Given the description of an element on the screen output the (x, y) to click on. 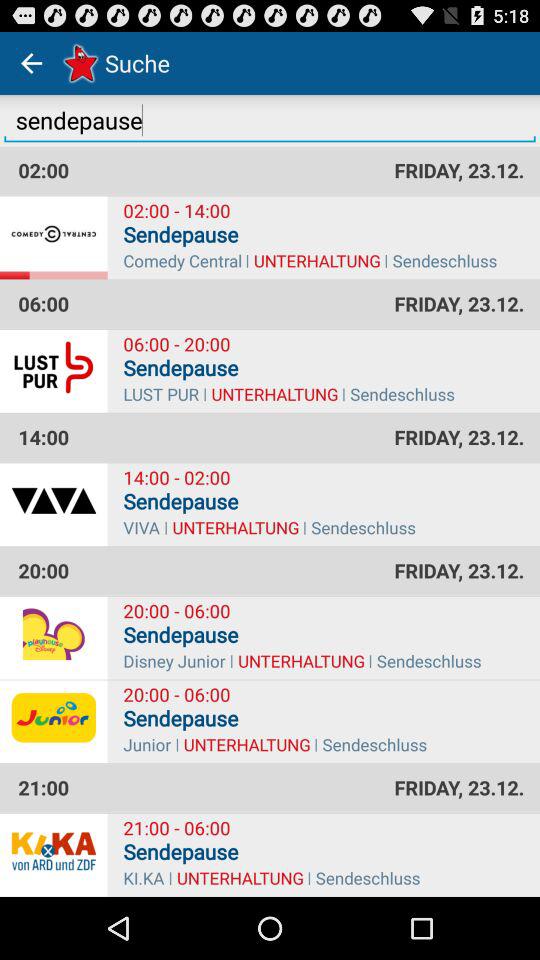
select the star symbol on top left (78, 62)
